Given the description of an element on the screen output the (x, y) to click on. 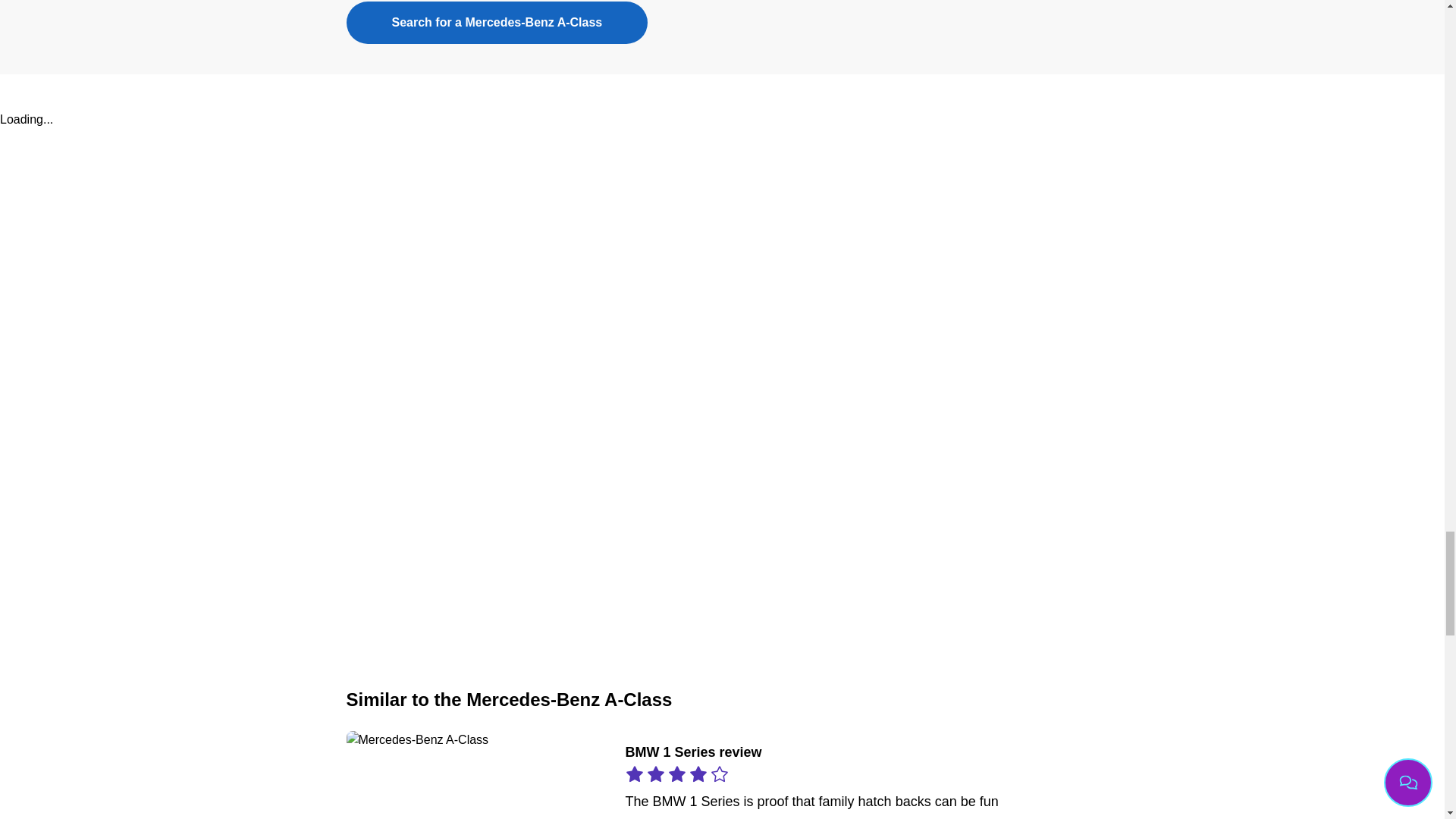
Search for a Mercedes-Benz A-Class (496, 22)
